Given the description of an element on the screen output the (x, y) to click on. 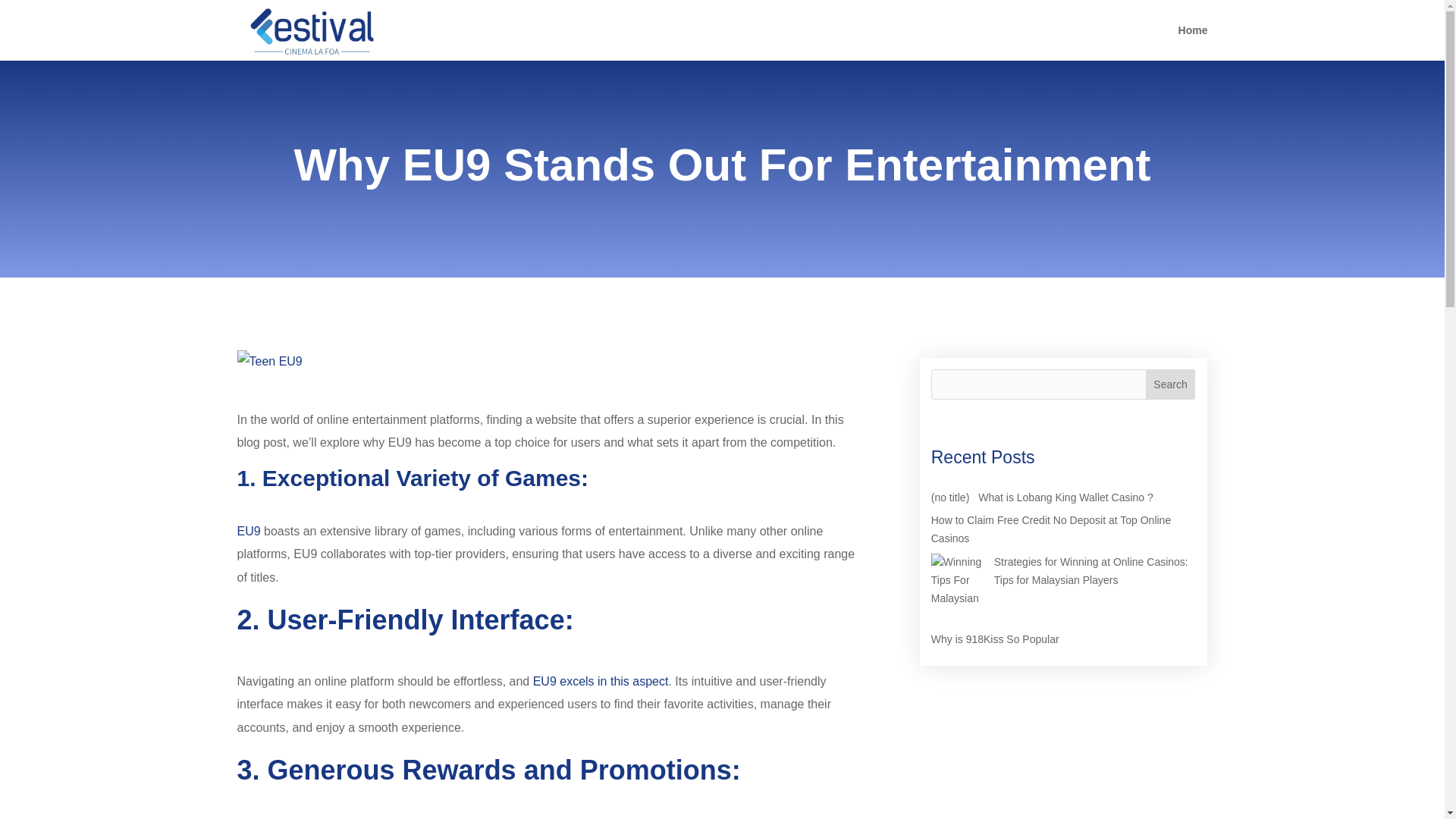
What is Lobang King Wallet Casino ? (1065, 497)
Why is 918Kiss So Popular (995, 639)
Search (1170, 384)
EU9 (247, 530)
EU9 excels in this aspect (598, 680)
How to Claim Free Credit No Deposit at Top Online Casinos (1050, 529)
